Given the description of an element on the screen output the (x, y) to click on. 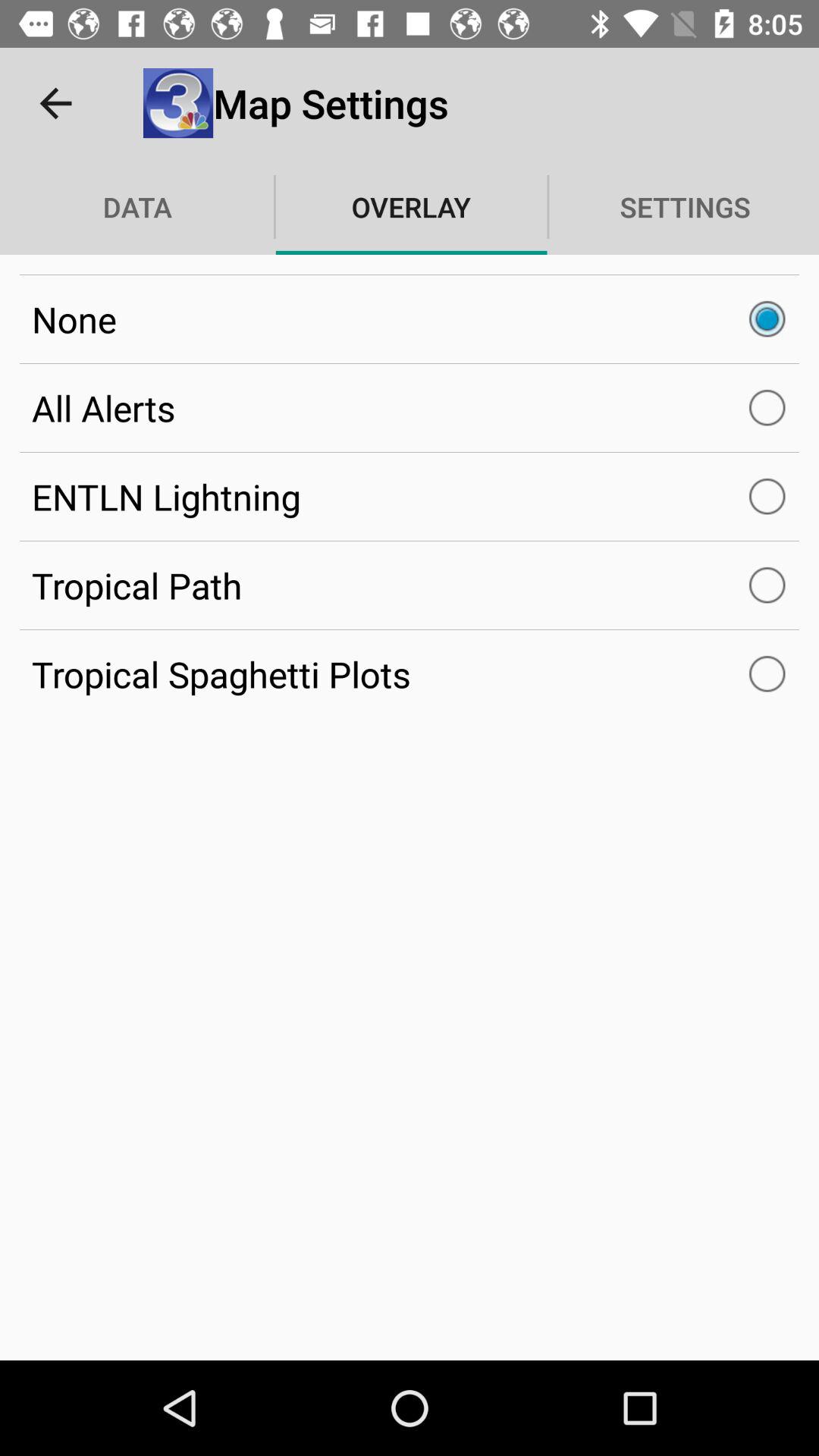
select the tropical spaghetti plots item (409, 674)
